Given the description of an element on the screen output the (x, y) to click on. 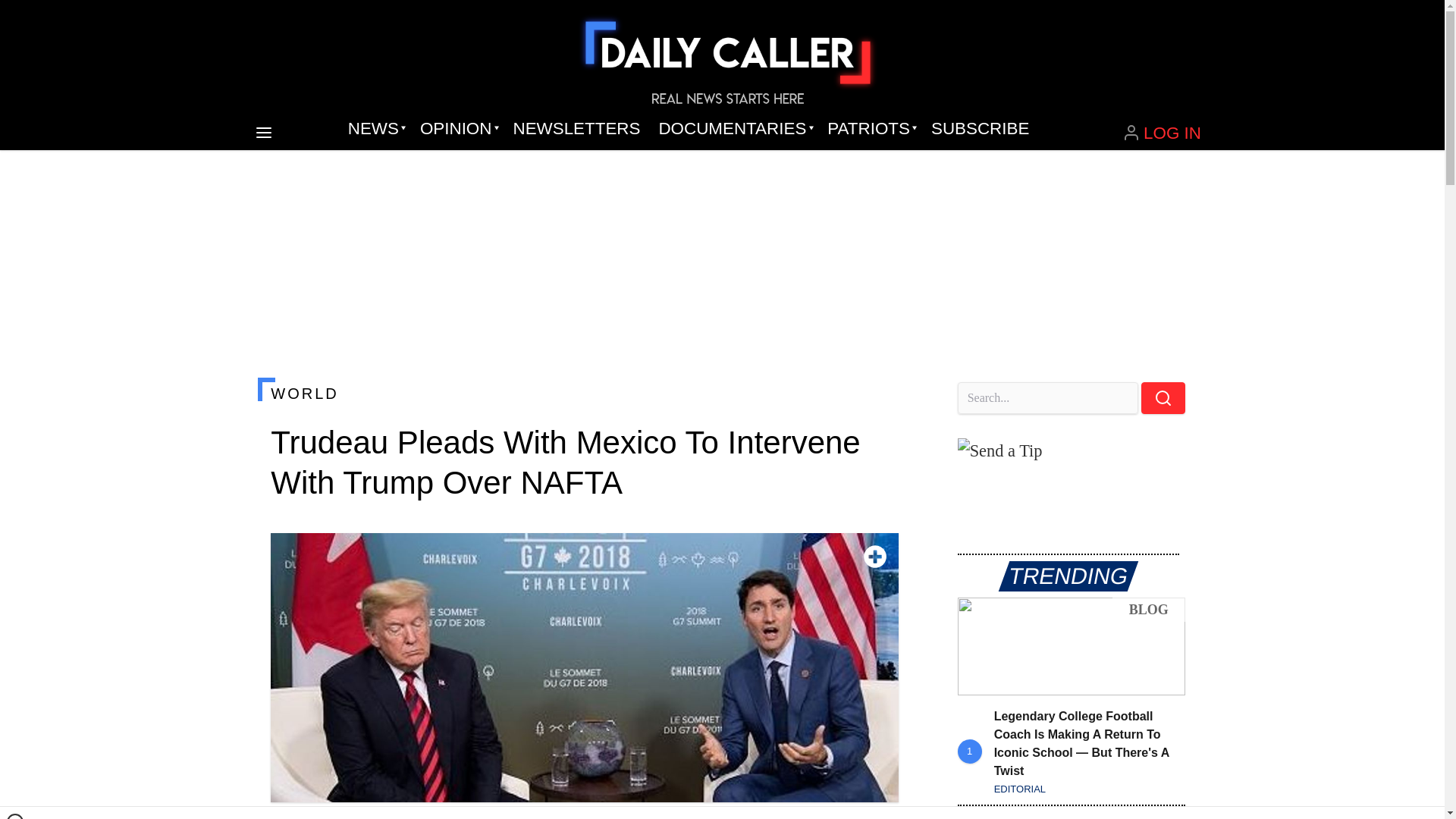
Toggle fullscreen (874, 556)
SUBSCRIBE (979, 128)
PATRIOTS (869, 128)
Close window (14, 816)
DOCUMENTARIES (733, 128)
NEWSLETTERS (576, 128)
NEWS (374, 128)
WORLD (584, 393)
OPINION (456, 128)
